Given the description of an element on the screen output the (x, y) to click on. 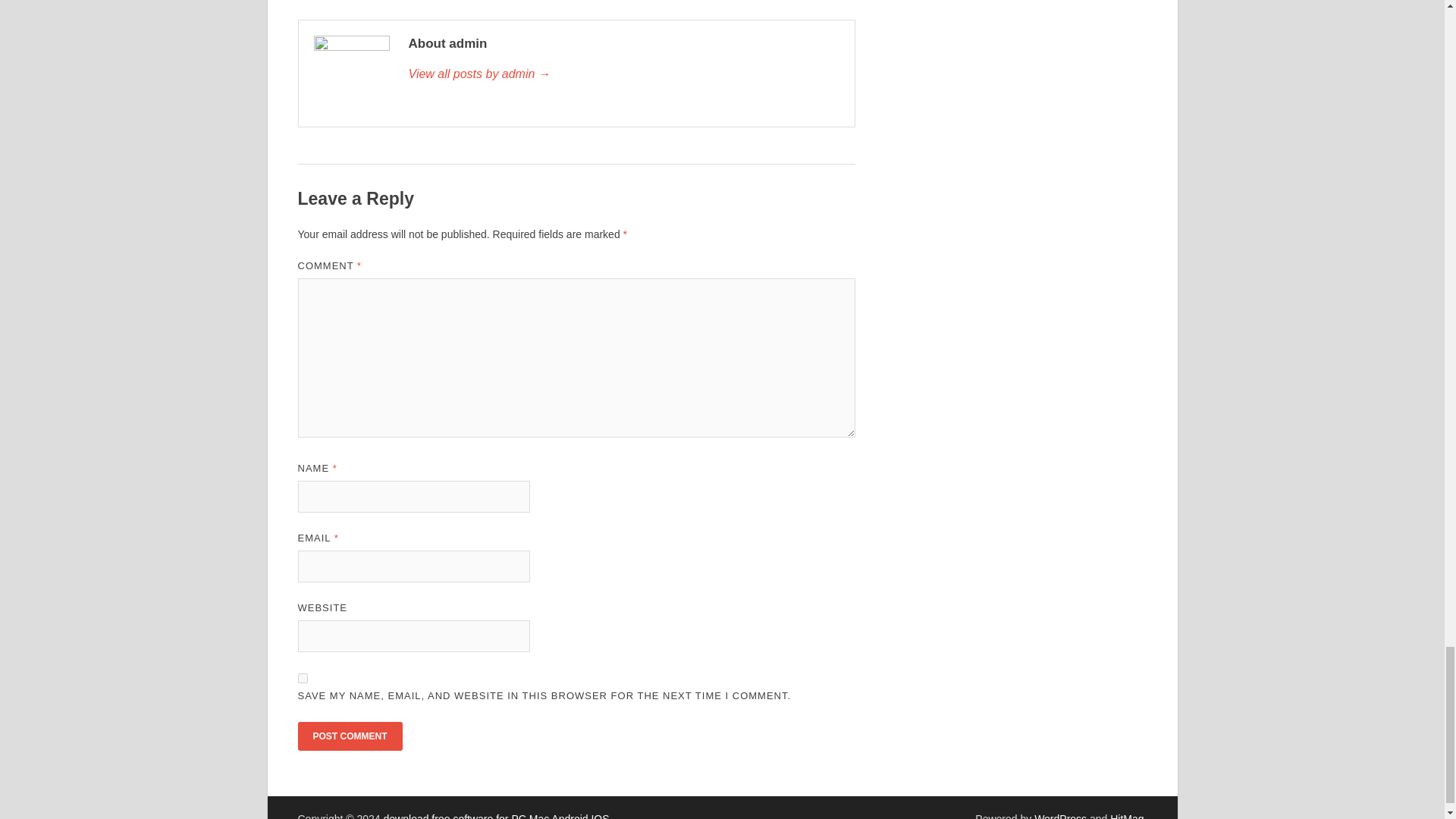
yes (302, 678)
Post Comment (349, 736)
Post Comment (349, 736)
admin (622, 74)
